Given the description of an element on the screen output the (x, y) to click on. 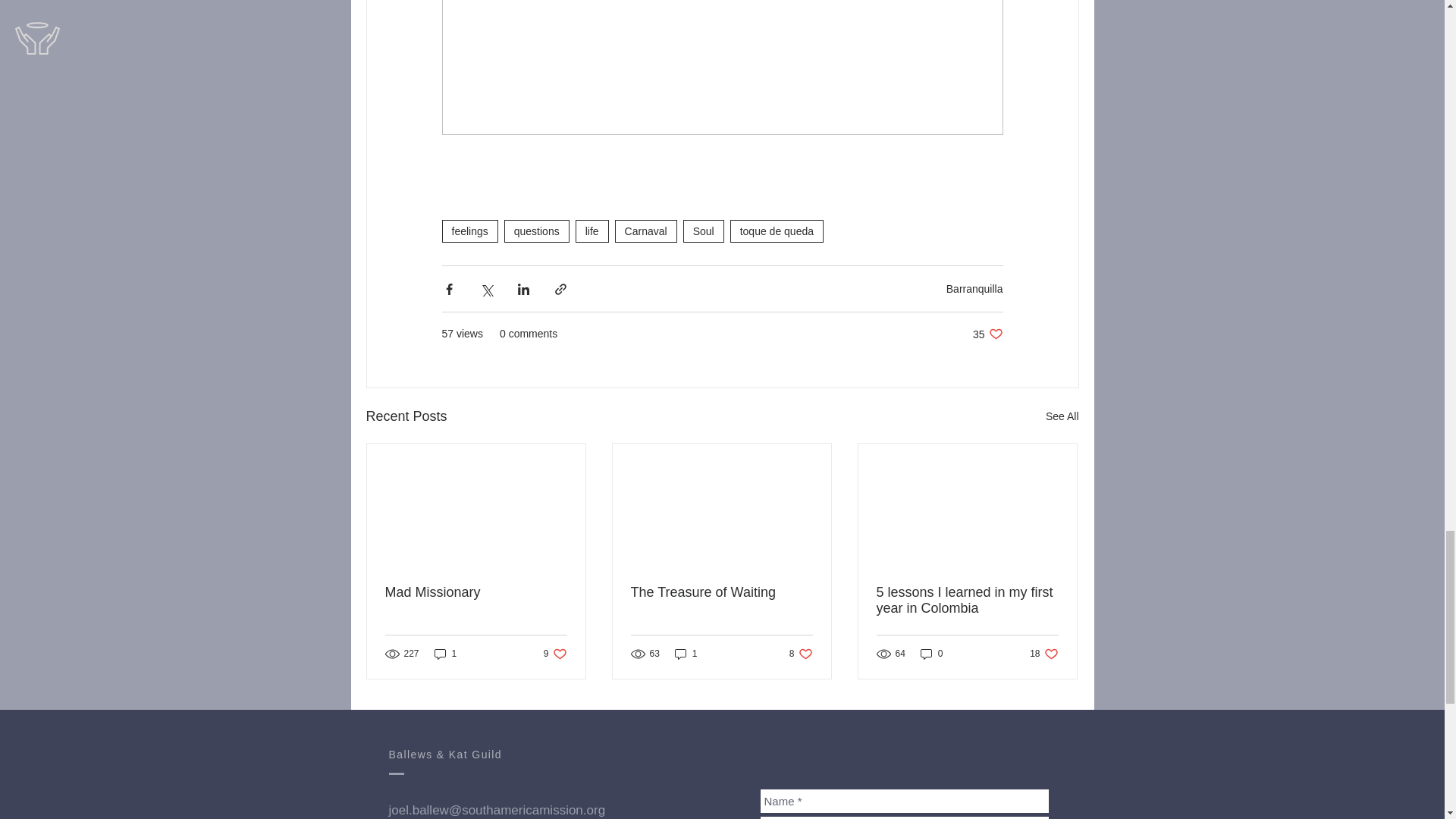
Mad Missionary (476, 592)
life (591, 231)
Soul (987, 333)
1 (555, 653)
See All (702, 231)
The Treasure of Waiting (445, 653)
questions (1061, 416)
toque de queda (721, 592)
